Given the description of an element on the screen output the (x, y) to click on. 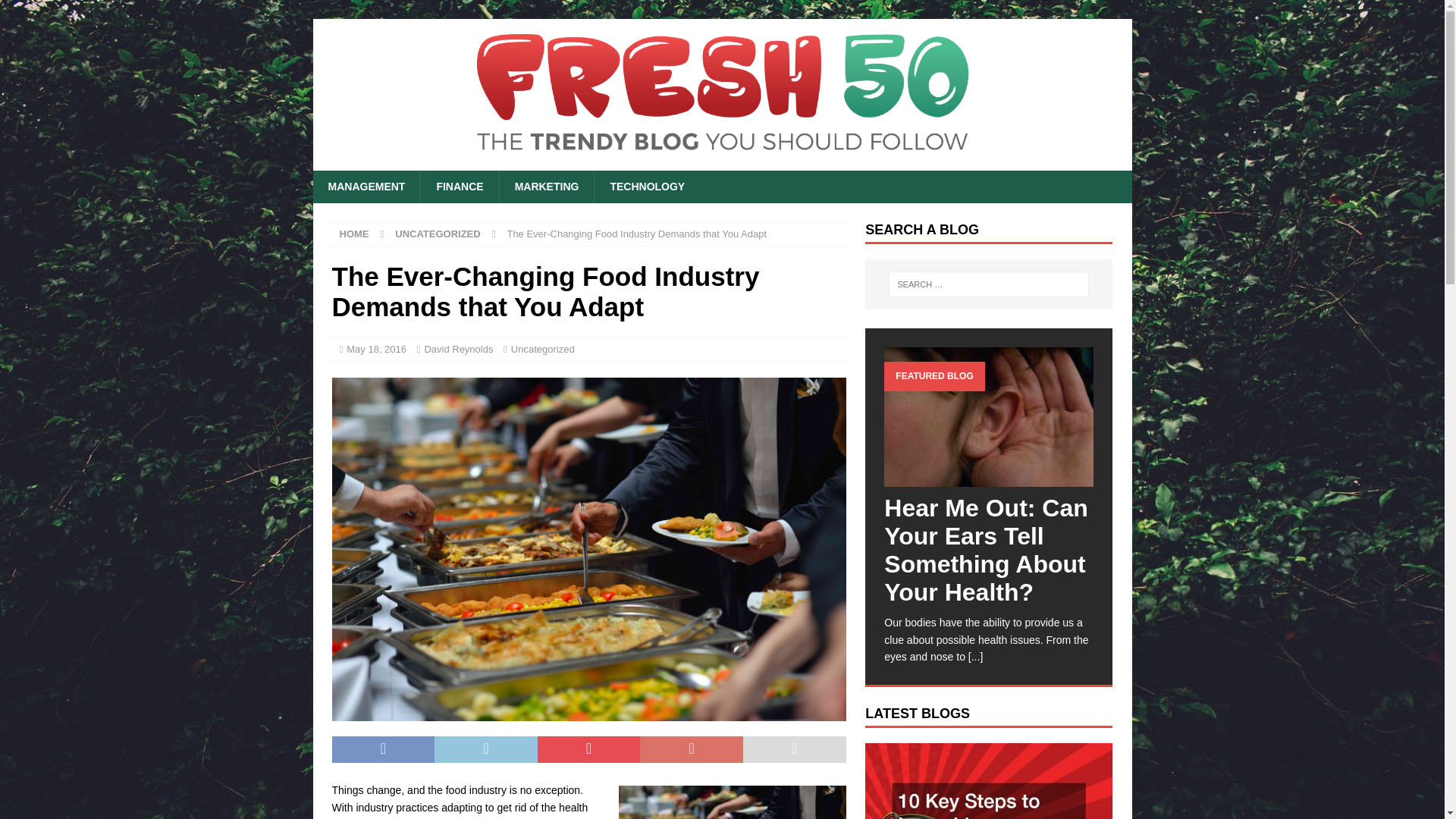
TECHNOLOGY (647, 186)
HOME (354, 233)
David Reynolds (458, 348)
UNCATEGORIZED (437, 233)
FINANCE (458, 186)
MANAGEMENT (366, 186)
Uncategorized (543, 348)
May 18, 2016 (376, 348)
MARKETING (546, 186)
Food Industry (731, 802)
Search (56, 11)
Hear Me Out: Can Your Ears Tell Something About Your Health? (985, 550)
